Given the description of an element on the screen output the (x, y) to click on. 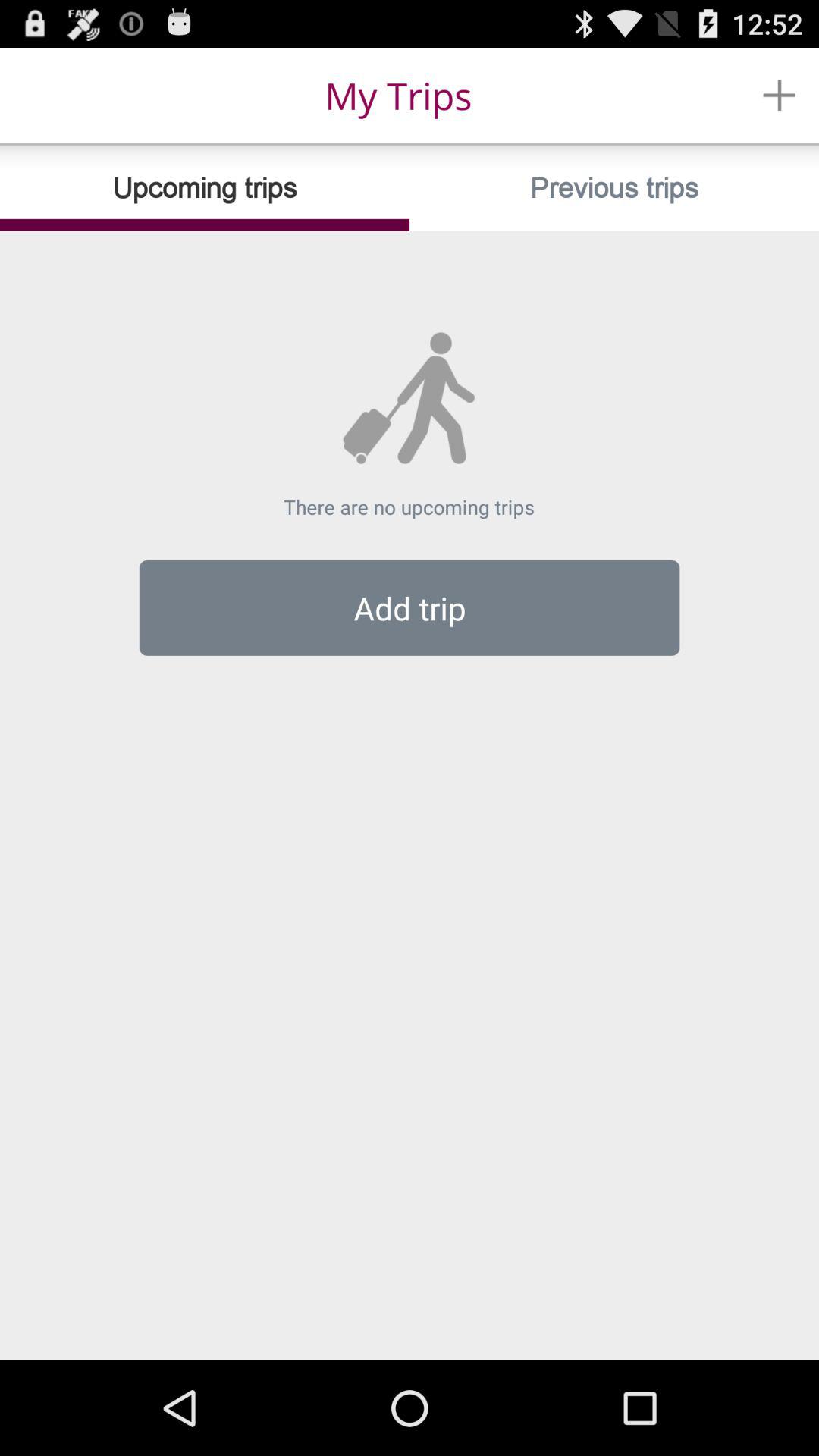
tap the icon below there are no (409, 607)
